Given the description of an element on the screen output the (x, y) to click on. 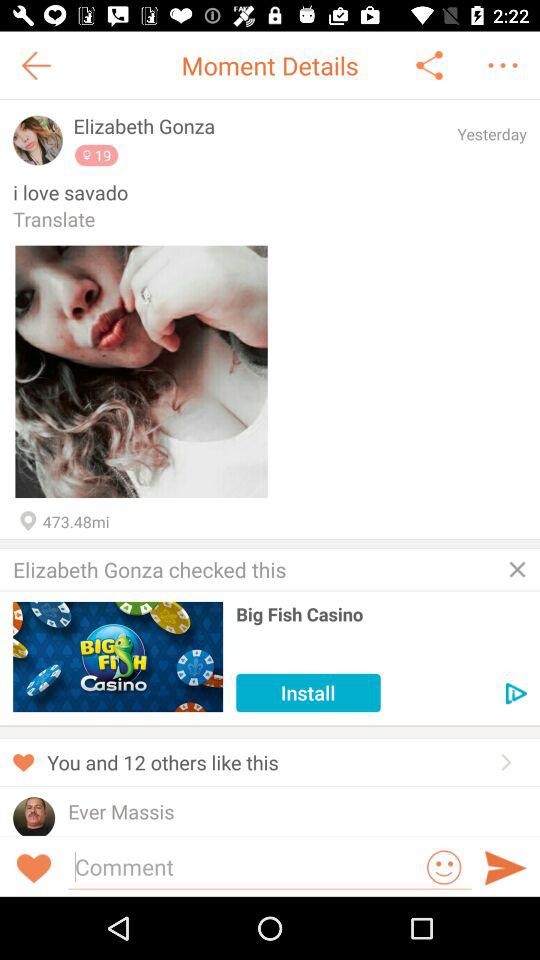
profile identification (38, 140)
